Given the description of an element on the screen output the (x, y) to click on. 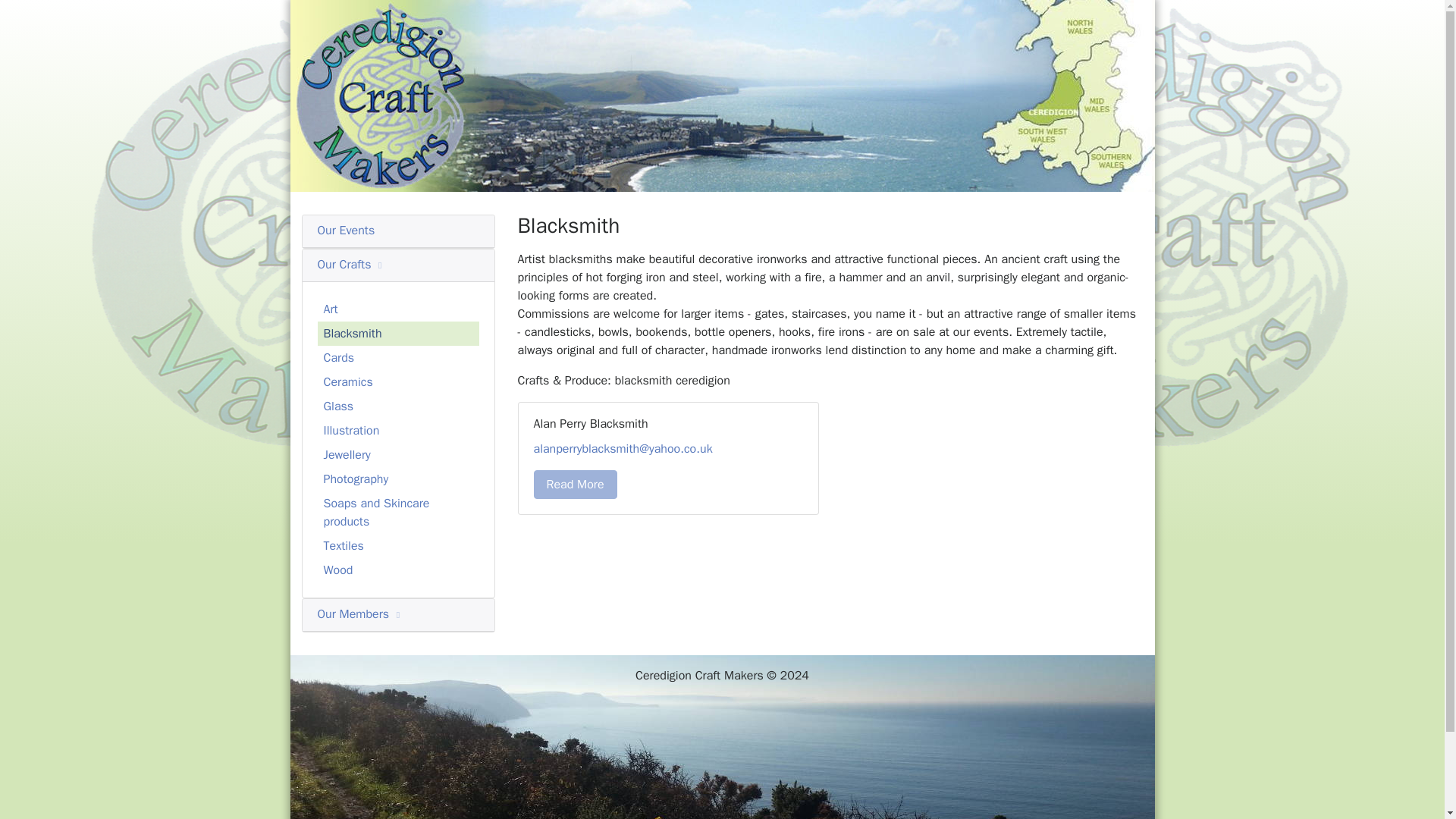
Ceramics (398, 381)
Art (398, 309)
Our Events (345, 230)
Photography (398, 478)
Our Crafts (351, 264)
Read More (575, 484)
Textiles (398, 545)
Soaps and Skincare products (398, 512)
Blacksmith (398, 333)
Wood (398, 569)
